Given the description of an element on the screen output the (x, y) to click on. 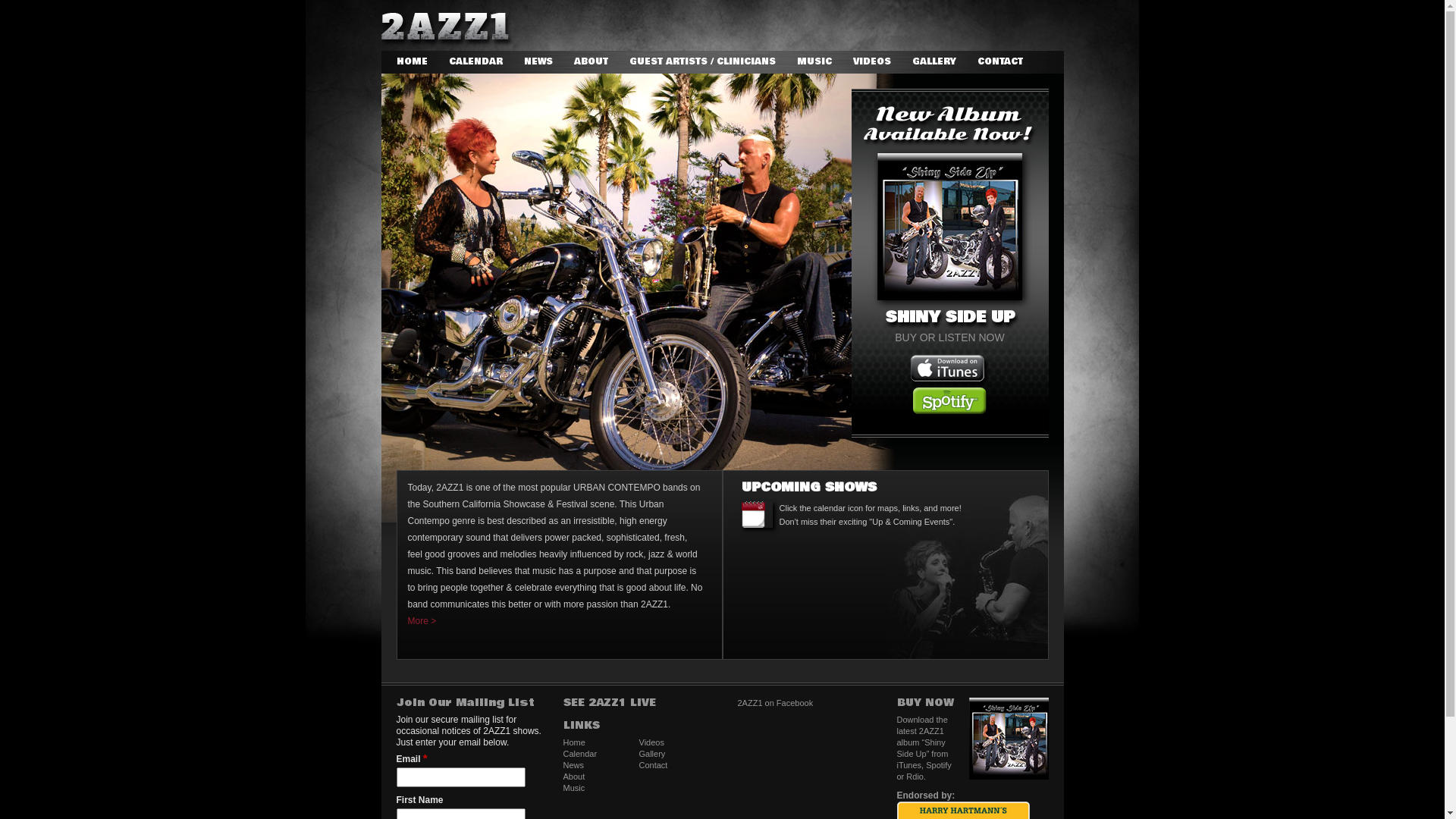
Home Element type: text (573, 741)
CALENDAR Element type: text (475, 61)
Music Element type: text (573, 787)
Calendar Element type: text (579, 753)
GALLERY Element type: text (933, 61)
NEWS Element type: text (537, 61)
2AZZ1 Element type: text (445, 29)
VIDEOS Element type: text (871, 61)
Videos Element type: text (650, 741)
GUEST ARTISTS / CLINICIANS Element type: text (702, 61)
Gallery Element type: text (651, 753)
More > Element type: text (555, 620)
MUSIC Element type: text (813, 61)
HOME Element type: text (410, 61)
2AZZ1 on Facebook Element type: text (774, 702)
CONTACT Element type: text (999, 61)
About Element type: text (573, 776)
Contact Element type: text (652, 764)
News Element type: text (572, 764)
ABOUT Element type: text (590, 61)
